Given the description of an element on the screen output the (x, y) to click on. 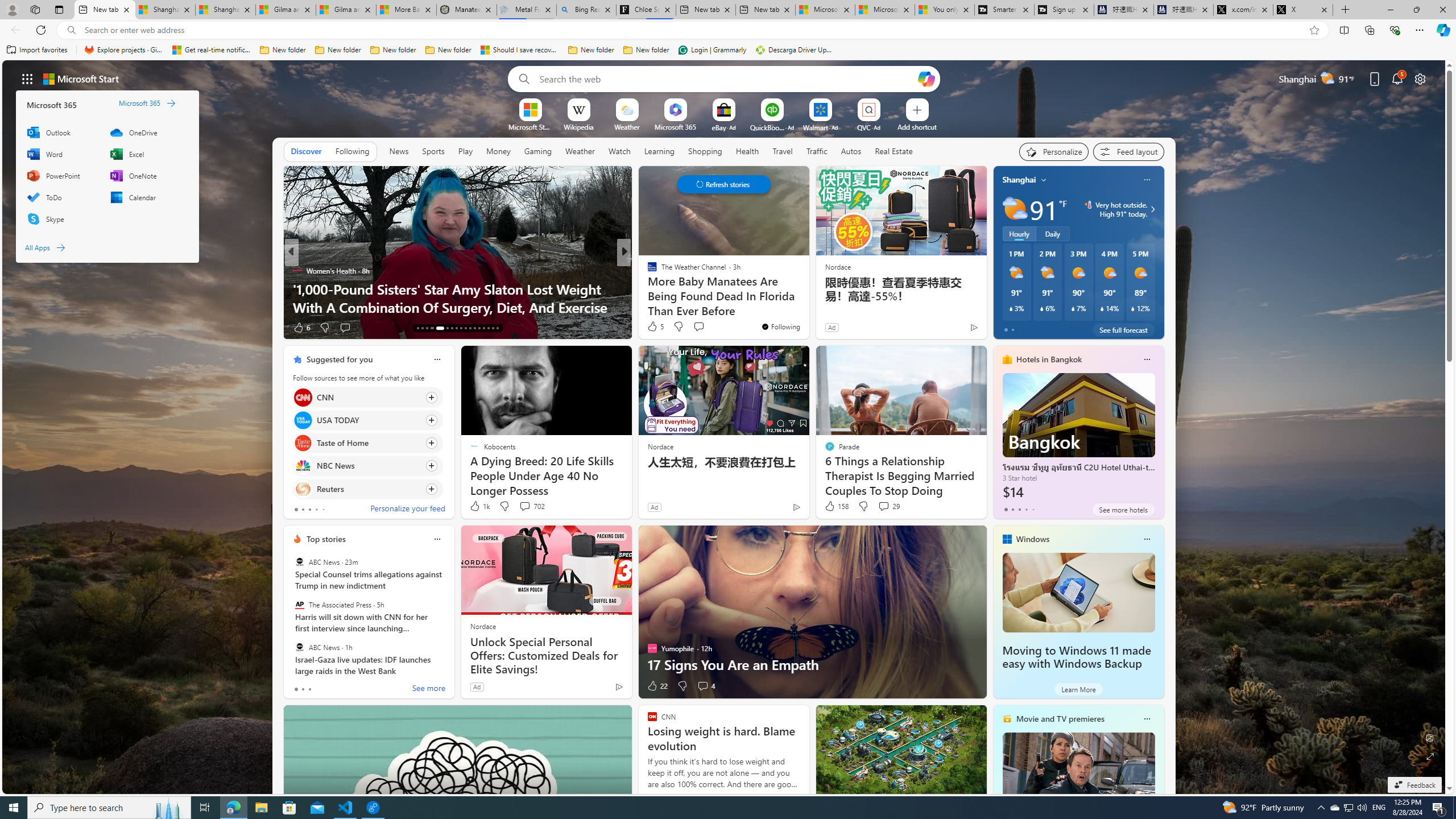
AutomationID: tab-17 (439, 328)
12 YouTube Features You'll Kick Yourself For Not Using (807, 298)
93 Like (652, 327)
View comments 29 Comment (888, 505)
ETNT Mind+Body (647, 270)
Top stories (325, 538)
